Given the description of an element on the screen output the (x, y) to click on. 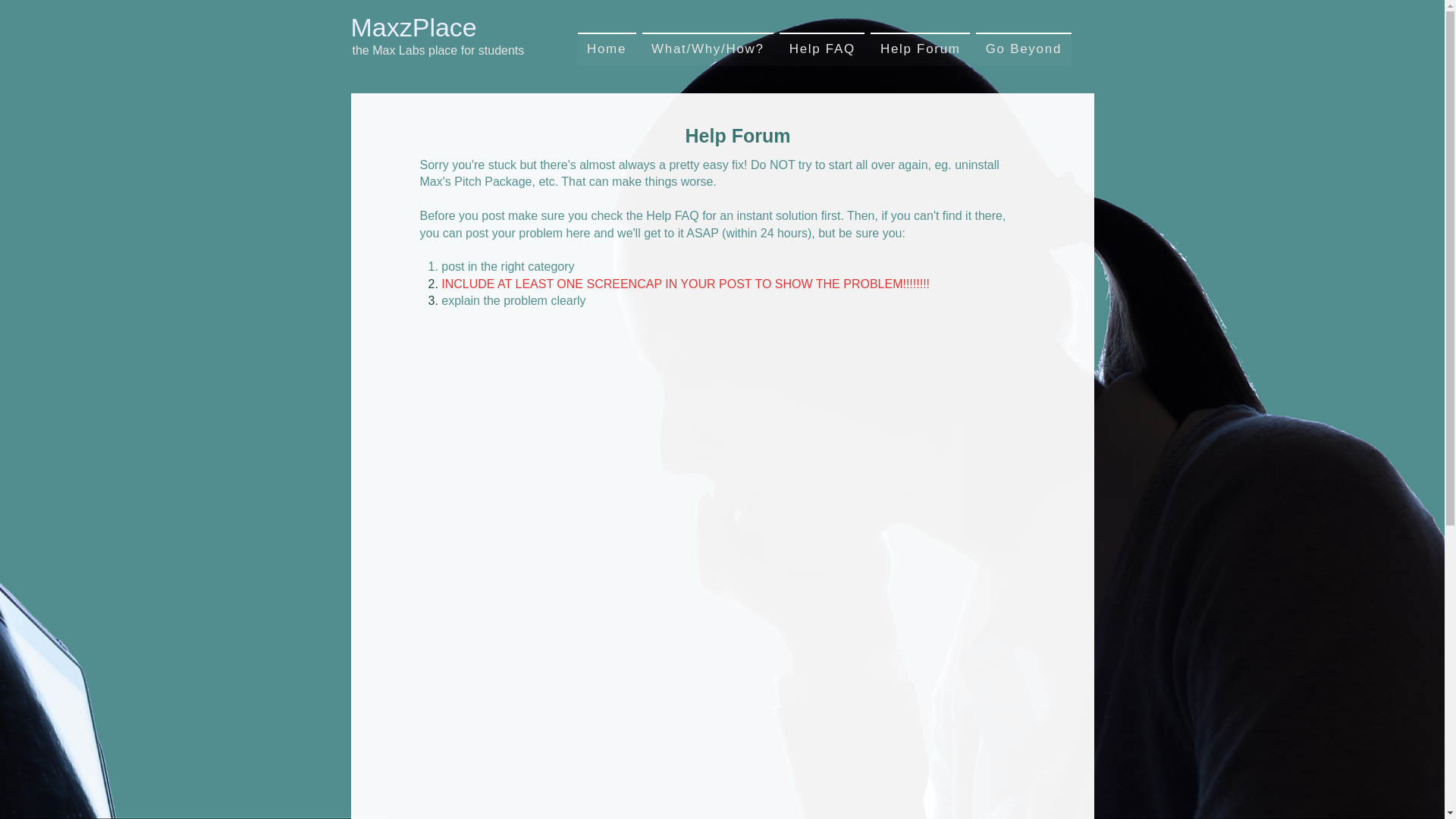
Help Forum (919, 49)
Home (607, 49)
Help FAQ (821, 49)
Go Beyond (1022, 49)
Help FAQ (672, 215)
